Given the description of an element on the screen output the (x, y) to click on. 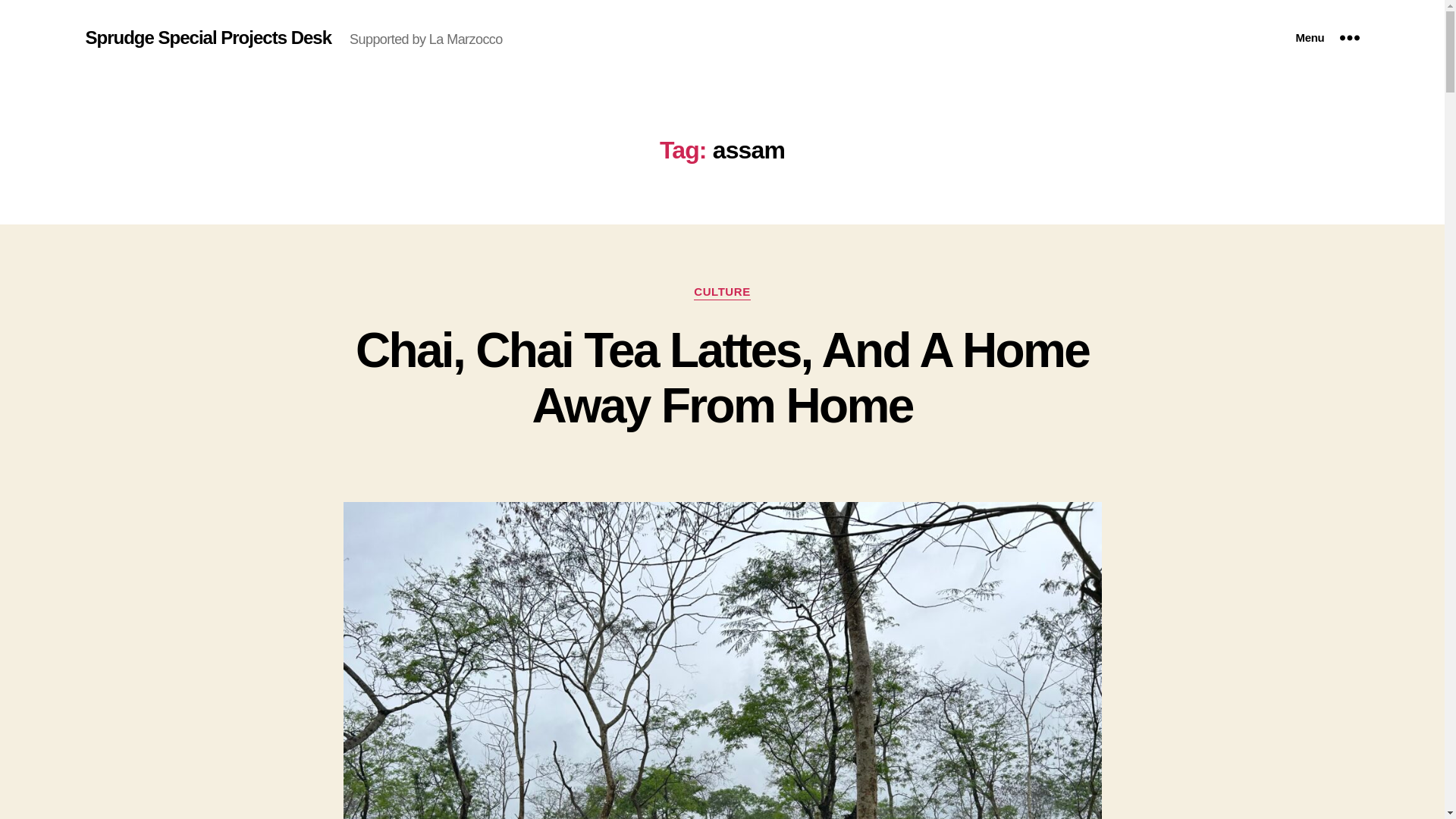
CULTURE (721, 292)
Sprudge Special Projects Desk (207, 37)
Menu (1327, 37)
Chai, Chai Tea Lattes, And A Home Away From Home (722, 377)
